Given the description of an element on the screen output the (x, y) to click on. 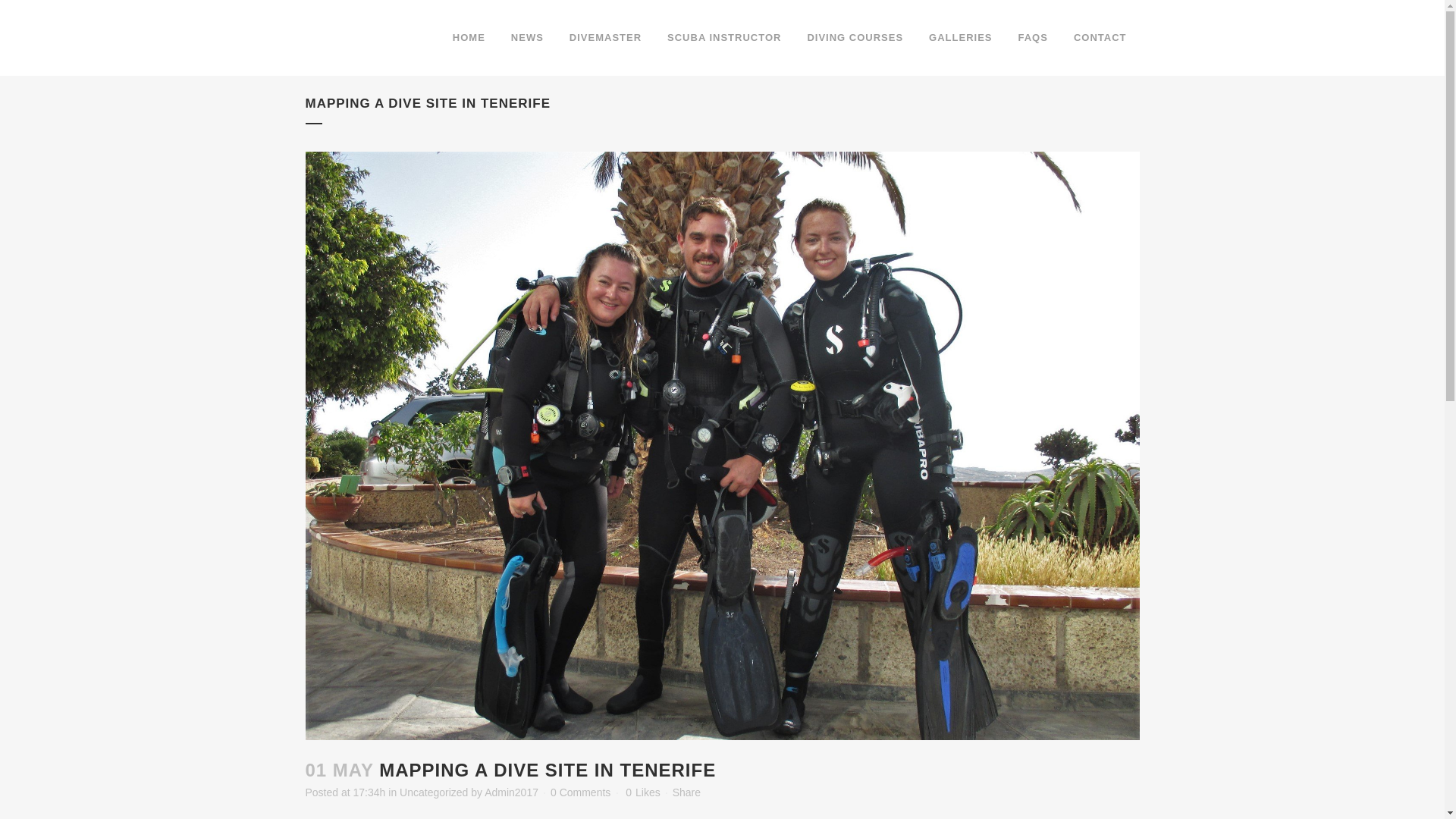
DIVEMASTER (604, 38)
DIVING COURSES (854, 38)
Divemaster internships (604, 38)
GALLERIES (959, 38)
CONTACT (1100, 38)
SCUBA INSTRUCTOR (723, 38)
PADI Divemaster internship Tenerife Galleries (959, 38)
Divemaster internships Contact page (1100, 38)
Like this (642, 792)
